Given the description of an element on the screen output the (x, y) to click on. 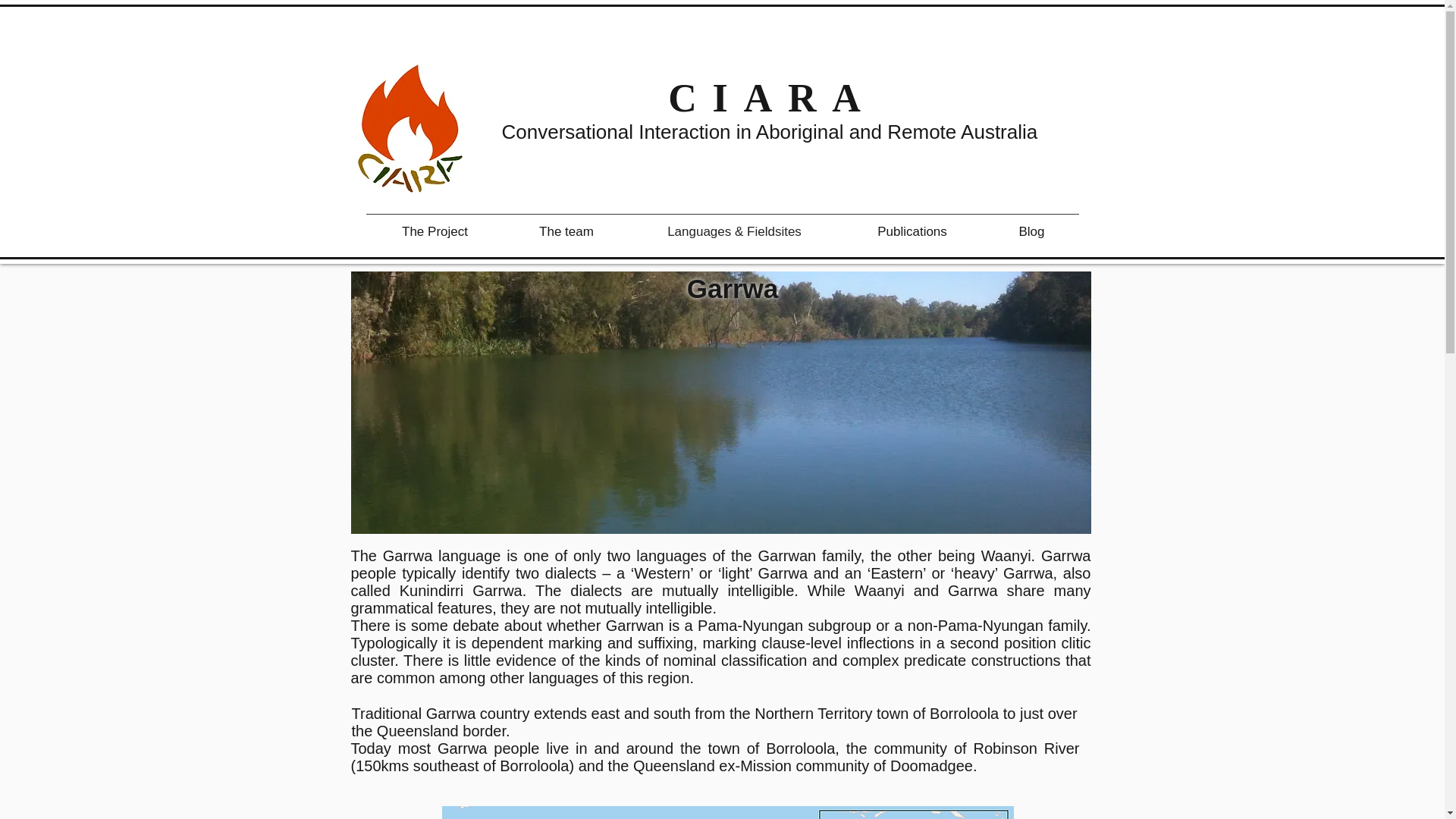
Publications (912, 231)
Blog (1031, 231)
The team (565, 231)
The Project (434, 231)
